Given the description of an element on the screen output the (x, y) to click on. 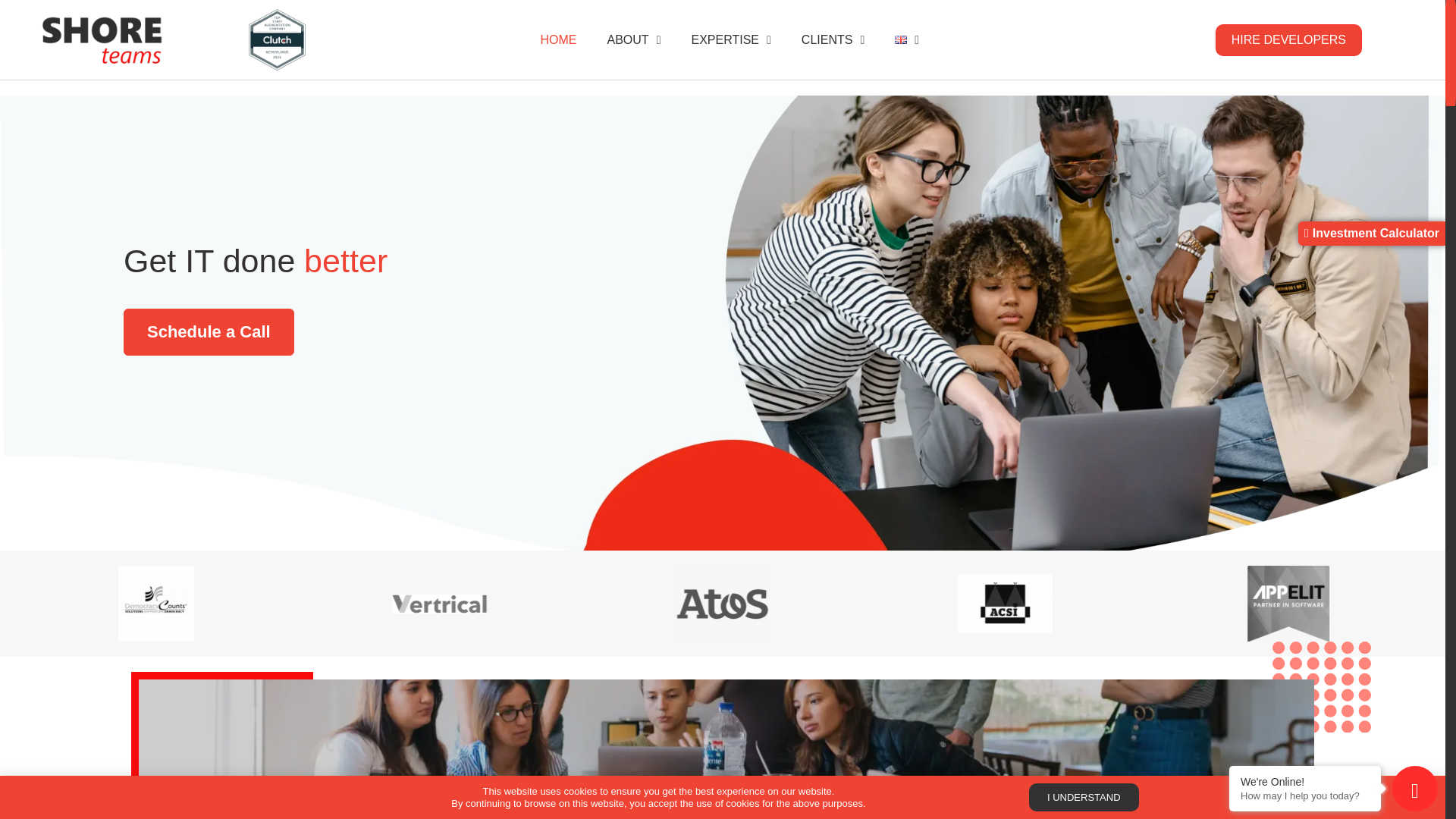
ABOUT (634, 39)
CLIENTS (832, 39)
HOME (558, 39)
We're Online! (1305, 781)
How may I help you today? (1305, 795)
Top Staff Augmentation Company Netherlands 2023 (283, 47)
EXPERTISE (730, 39)
